Given the description of an element on the screen output the (x, y) to click on. 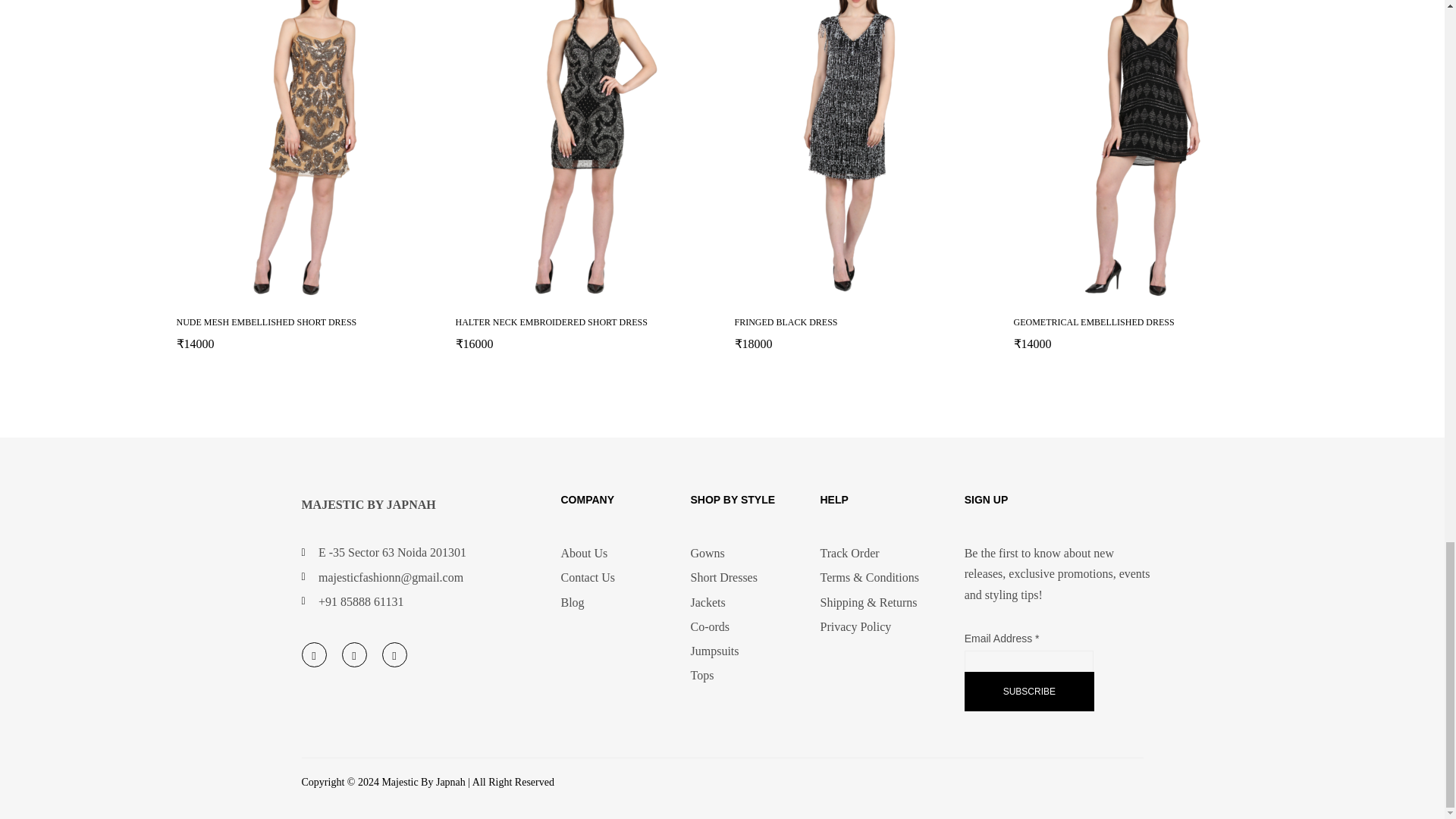
Subscribe (1028, 691)
